Given the description of an element on the screen output the (x, y) to click on. 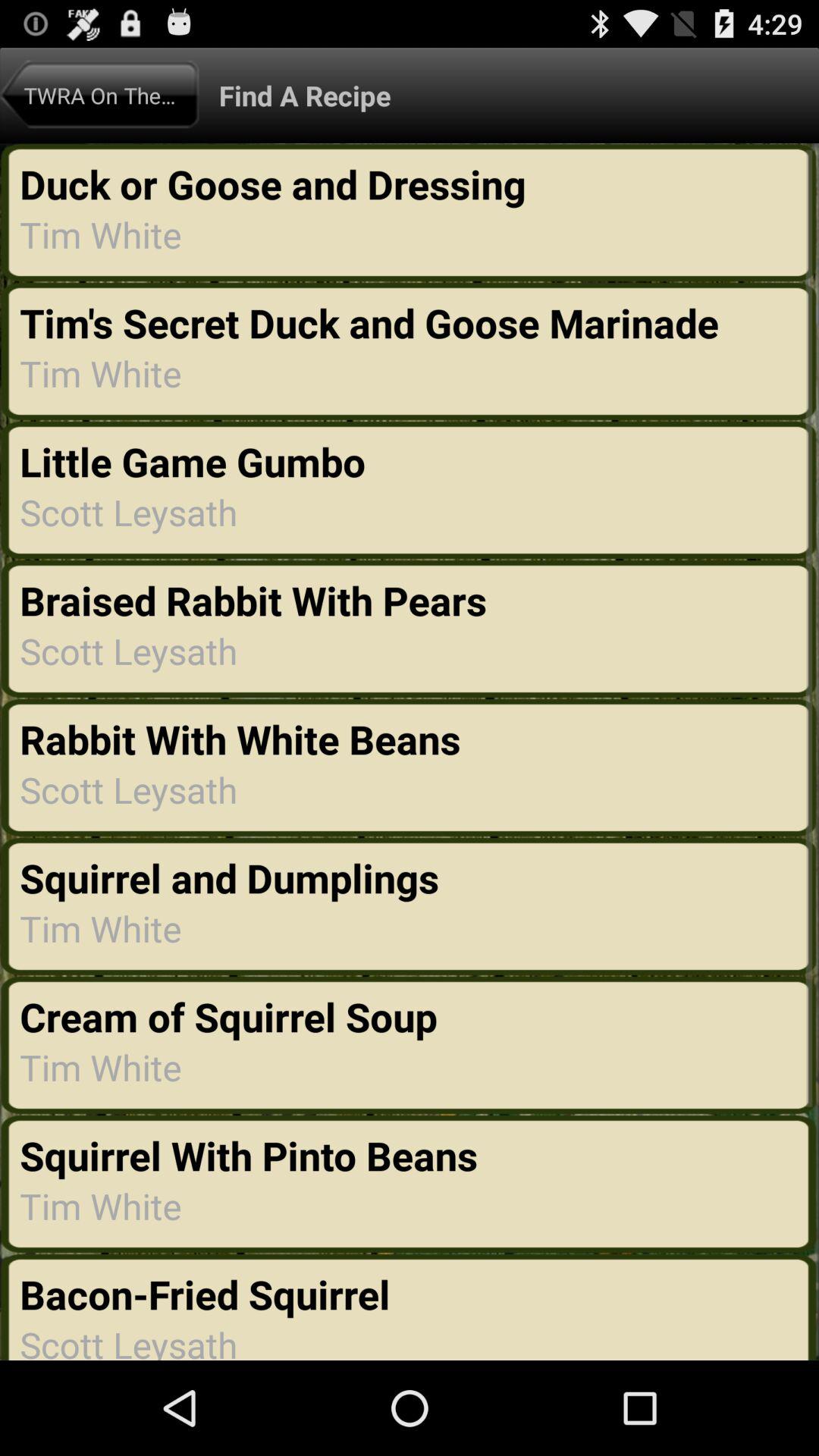
choose the icon above the scott leysath (209, 1293)
